Given the description of an element on the screen output the (x, y) to click on. 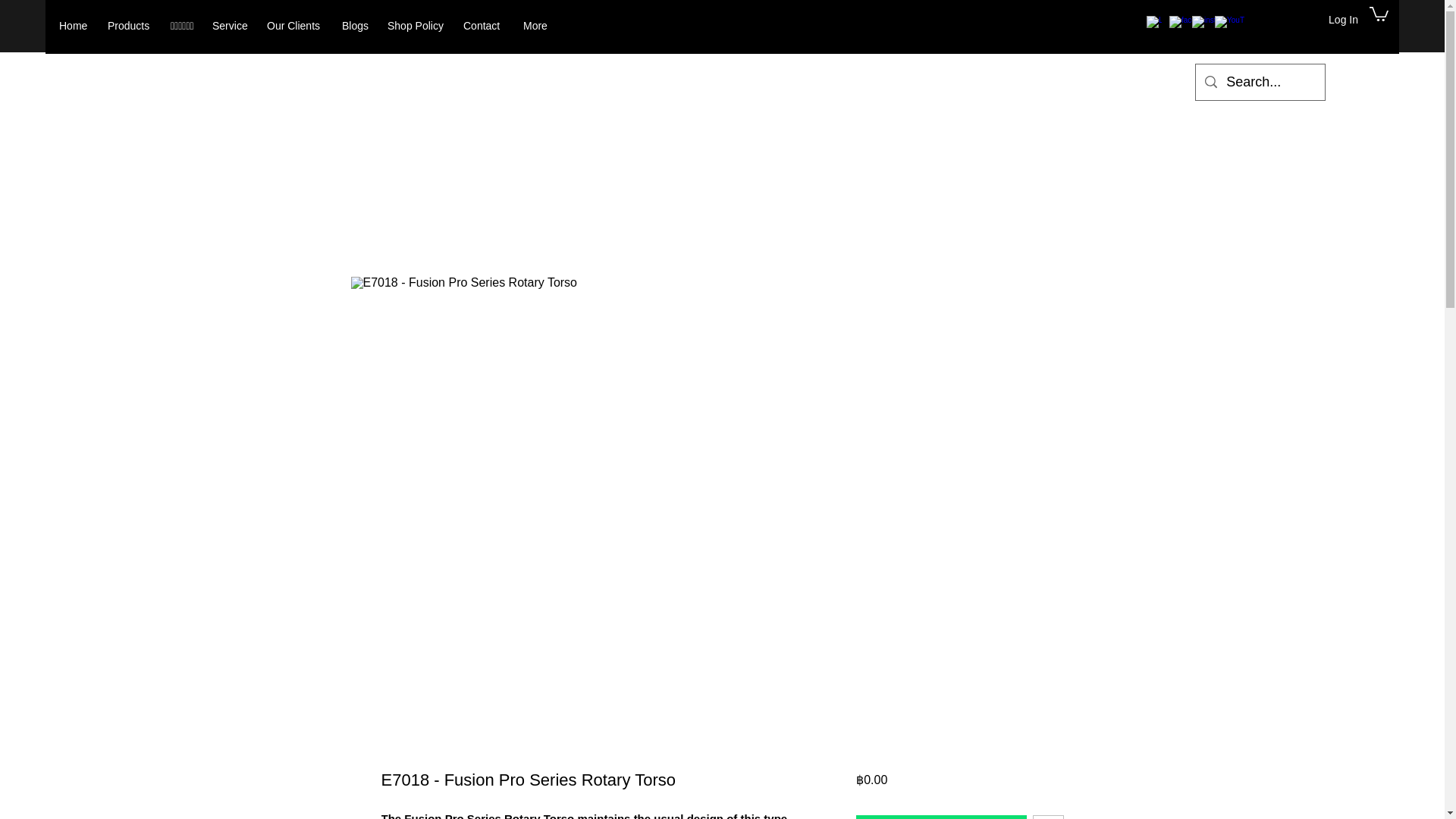
Blogs (357, 25)
Service (232, 25)
Our Clients (296, 25)
Products (131, 25)
Contact (485, 25)
Home (75, 25)
